Given the description of an element on the screen output the (x, y) to click on. 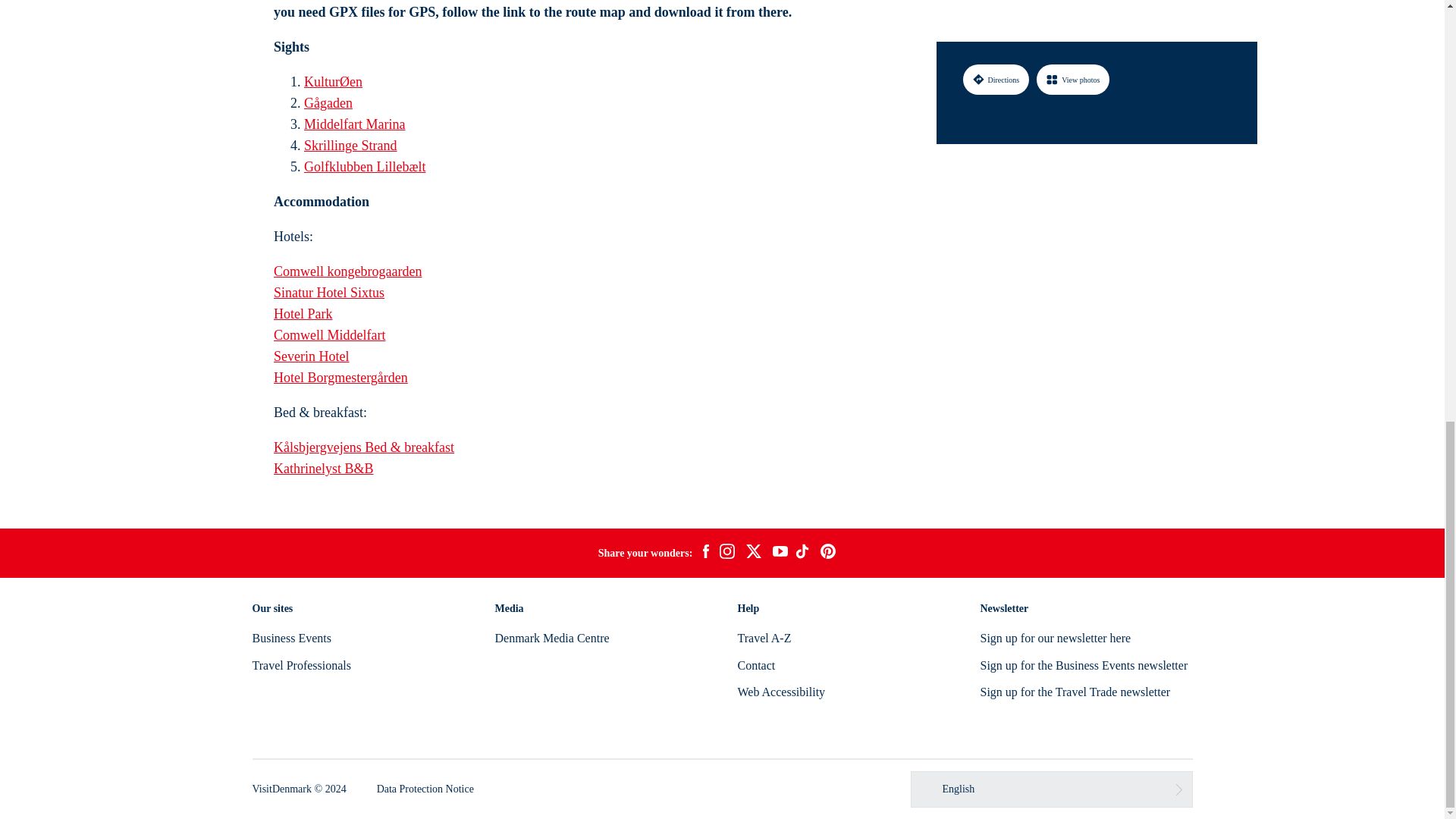
Travel Professionals (300, 665)
Denmark Media Centre (551, 637)
Data Protection Notice (425, 789)
Hotel Park (302, 313)
Business Events (290, 637)
youtube (780, 553)
twitter (753, 553)
Sign up for the Business Events newsletter (1083, 665)
Sign up for our newsletter here (1055, 637)
Travel A-Z (763, 637)
Comwell Middelfart (329, 335)
Contact (755, 665)
Web Accessibility (780, 691)
Comwell kongebrogaarden (347, 271)
instagram (726, 553)
